Given the description of an element on the screen output the (x, y) to click on. 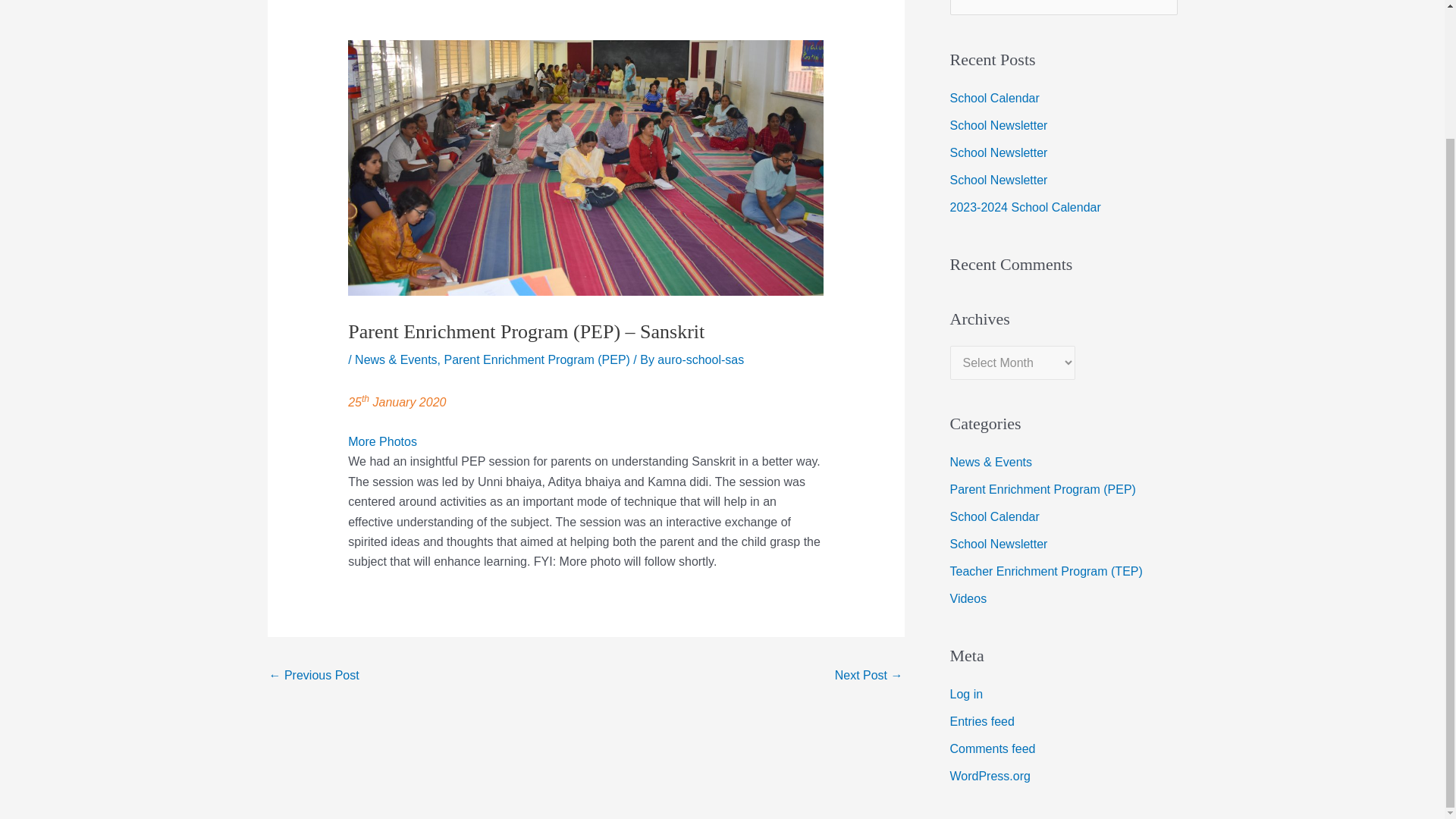
Search (1159, 3)
More Photos (381, 440)
School Newsletter (868, 676)
View all posts by auro-school-sas (701, 359)
Sports Day 2019-2020 (312, 676)
auro-school-sas (701, 359)
Search (1159, 3)
